Given the description of an element on the screen output the (x, y) to click on. 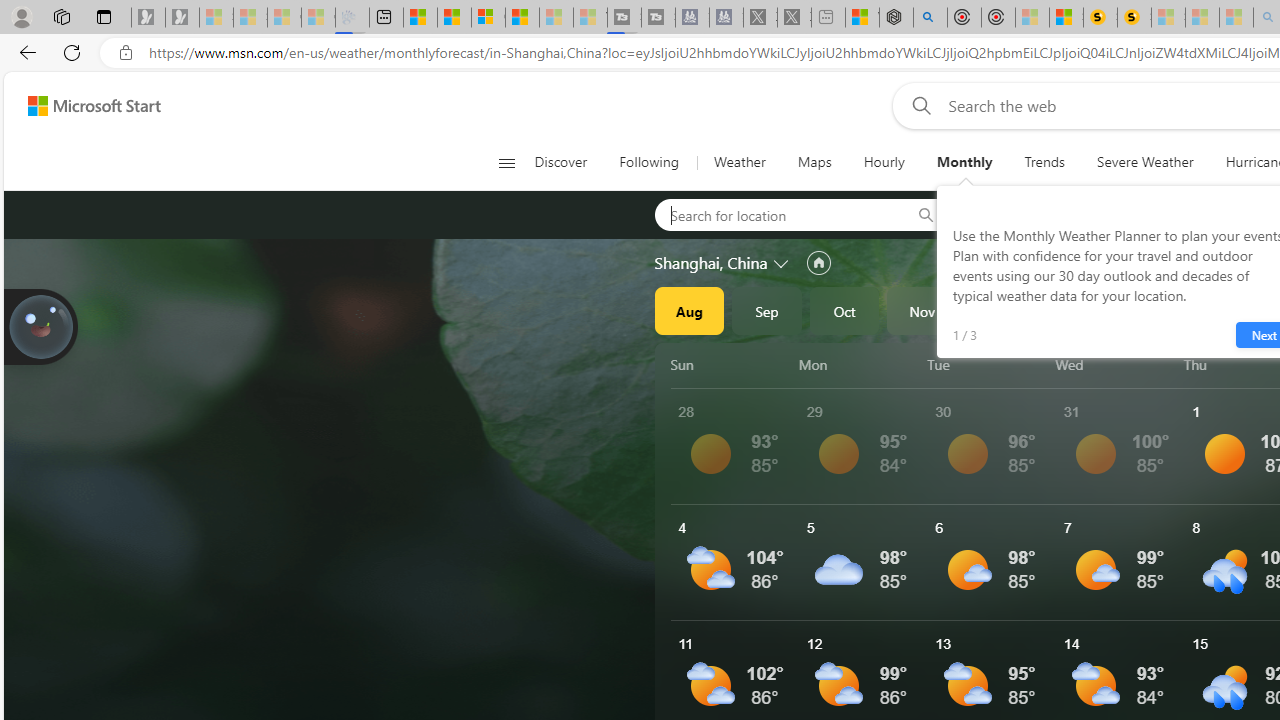
Aug (689, 310)
Newsletter Sign Up - Sleeping (182, 17)
Search for location (776, 214)
Maps (814, 162)
Hourly (883, 162)
Open navigation menu (506, 162)
Dec (1000, 310)
Change location (782, 262)
Skip to footer (82, 105)
